Given the description of an element on the screen output the (x, y) to click on. 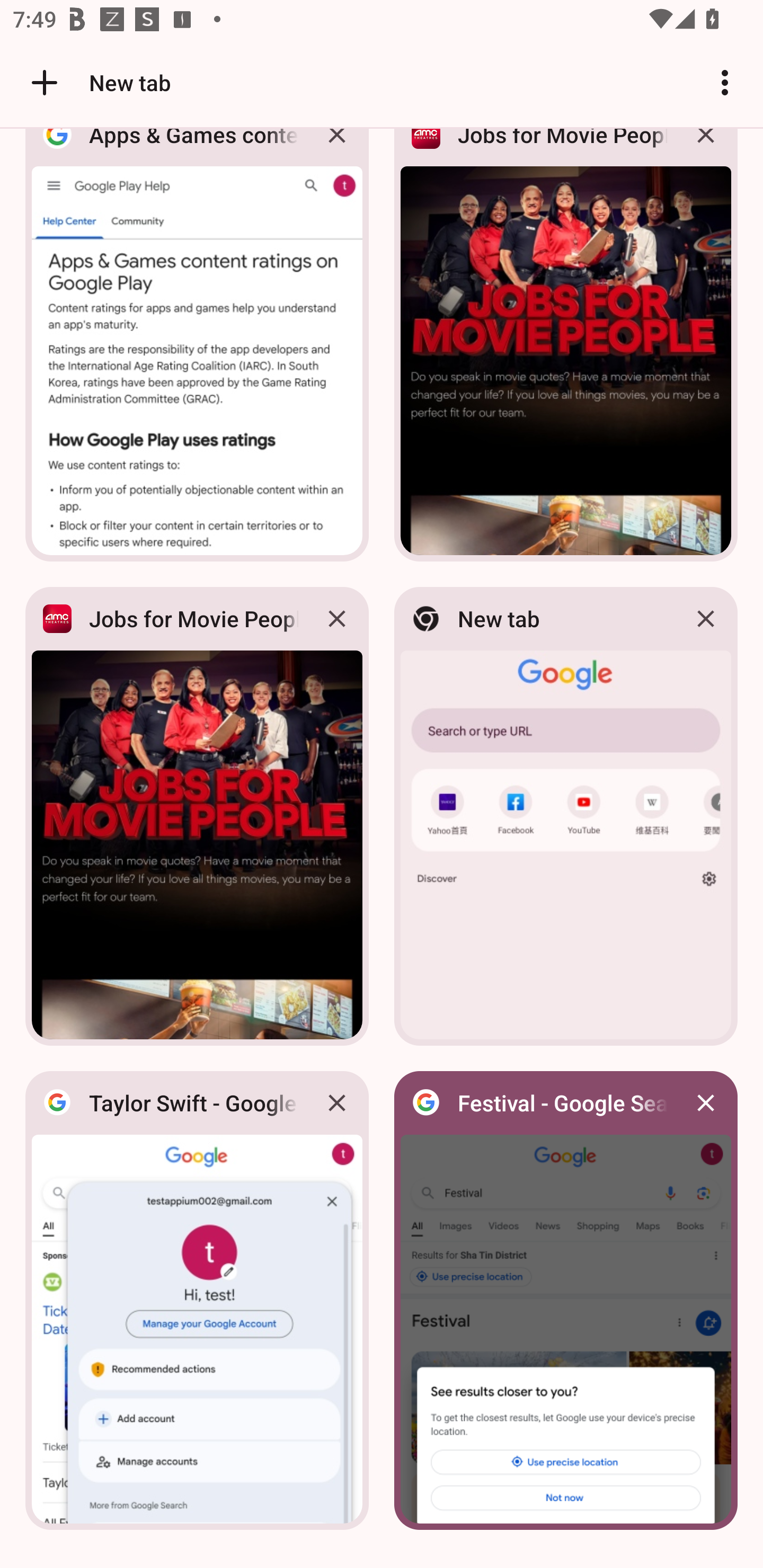
Open the home page (38, 82)
New tab (98, 82)
Customize and control Google Chrome (724, 82)
Close Jobs for Movie People tab (705, 149)
New tab New tab, tab Close New tab tab (565, 815)
Close Jobs for Movie People tab (337, 618)
Close New tab tab (705, 618)
Close Taylor Swift - Google Search tab (337, 1102)
Close Festival - Google Search tab (705, 1102)
